Given the description of an element on the screen output the (x, y) to click on. 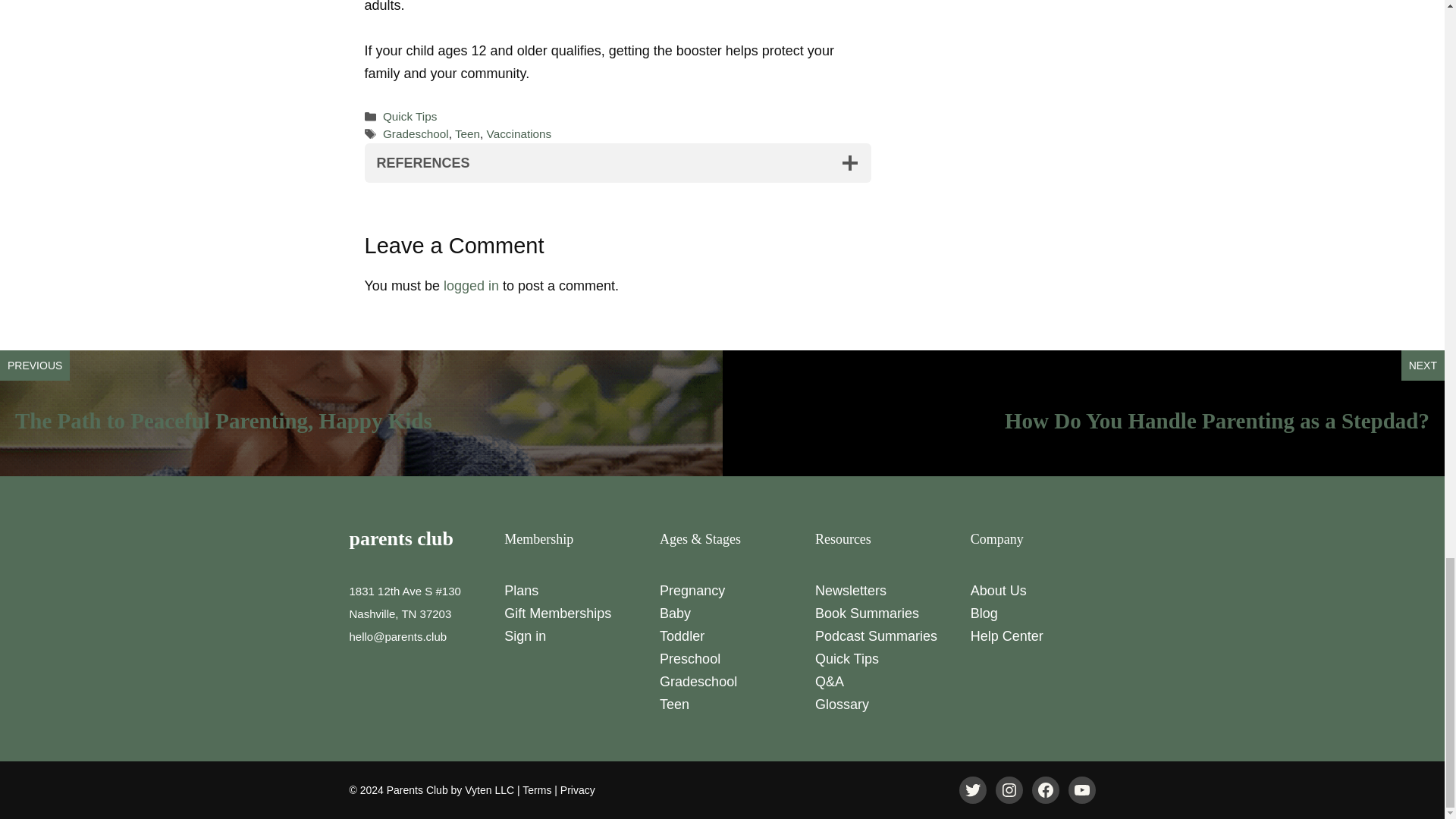
logged in (471, 285)
Vaccinations (518, 133)
The Path to Peaceful Parenting, Happy Kids (223, 420)
Baby (674, 613)
Gift Memberships (557, 613)
Toddler (681, 635)
REFERENCES (617, 162)
How Do You Handle Parenting as a Stepdad? (1216, 420)
Quick Tips (409, 115)
Teen (467, 133)
Pregnancy (692, 590)
Plans (520, 590)
Sign in (524, 635)
Gradeschool (415, 133)
